Given the description of an element on the screen output the (x, y) to click on. 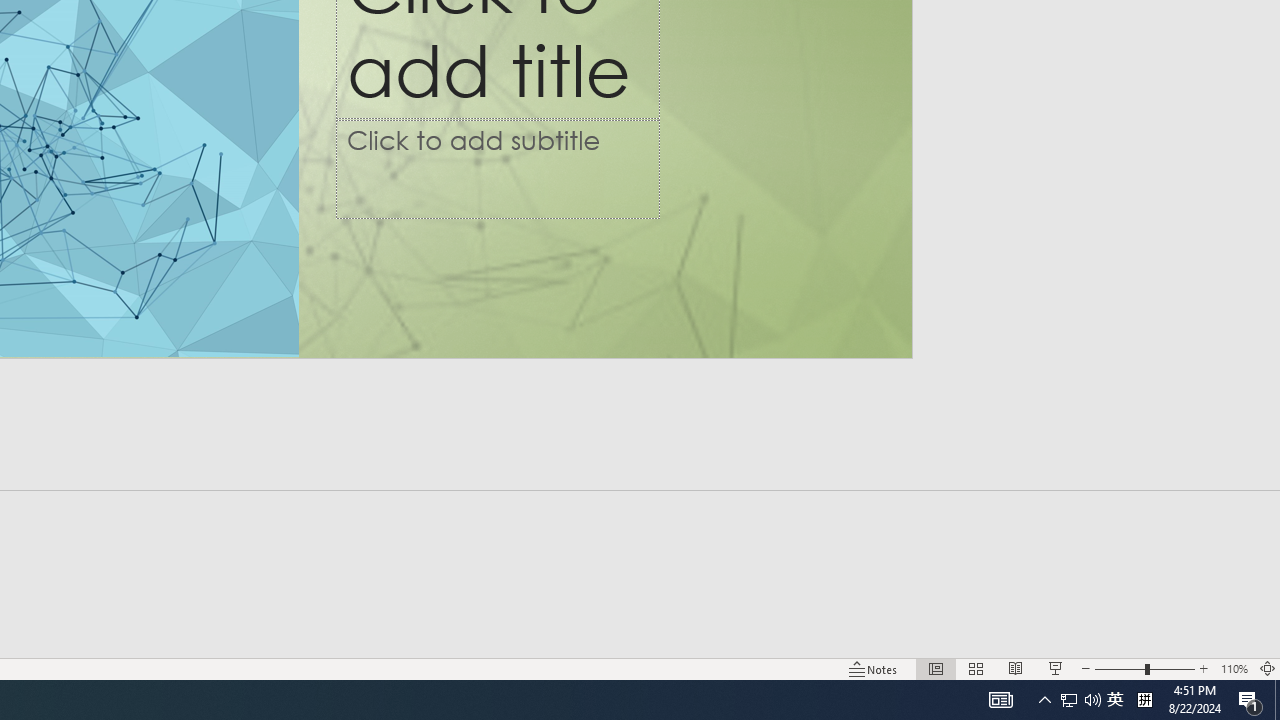
AutomationID: 4105 (1000, 699)
Show desktop (1277, 699)
Slide Sorter (975, 668)
Slide Show (1055, 668)
Zoom (1144, 668)
Zoom In (1115, 699)
User Promoted Notification Area (1204, 668)
Zoom to Fit  (1080, 699)
Zoom 110% (1267, 668)
Zoom Out (1234, 668)
Action Center, 1 new notification (1119, 668)
Notification Chevron (1250, 699)
Notes  (1044, 699)
